Given the description of an element on the screen output the (x, y) to click on. 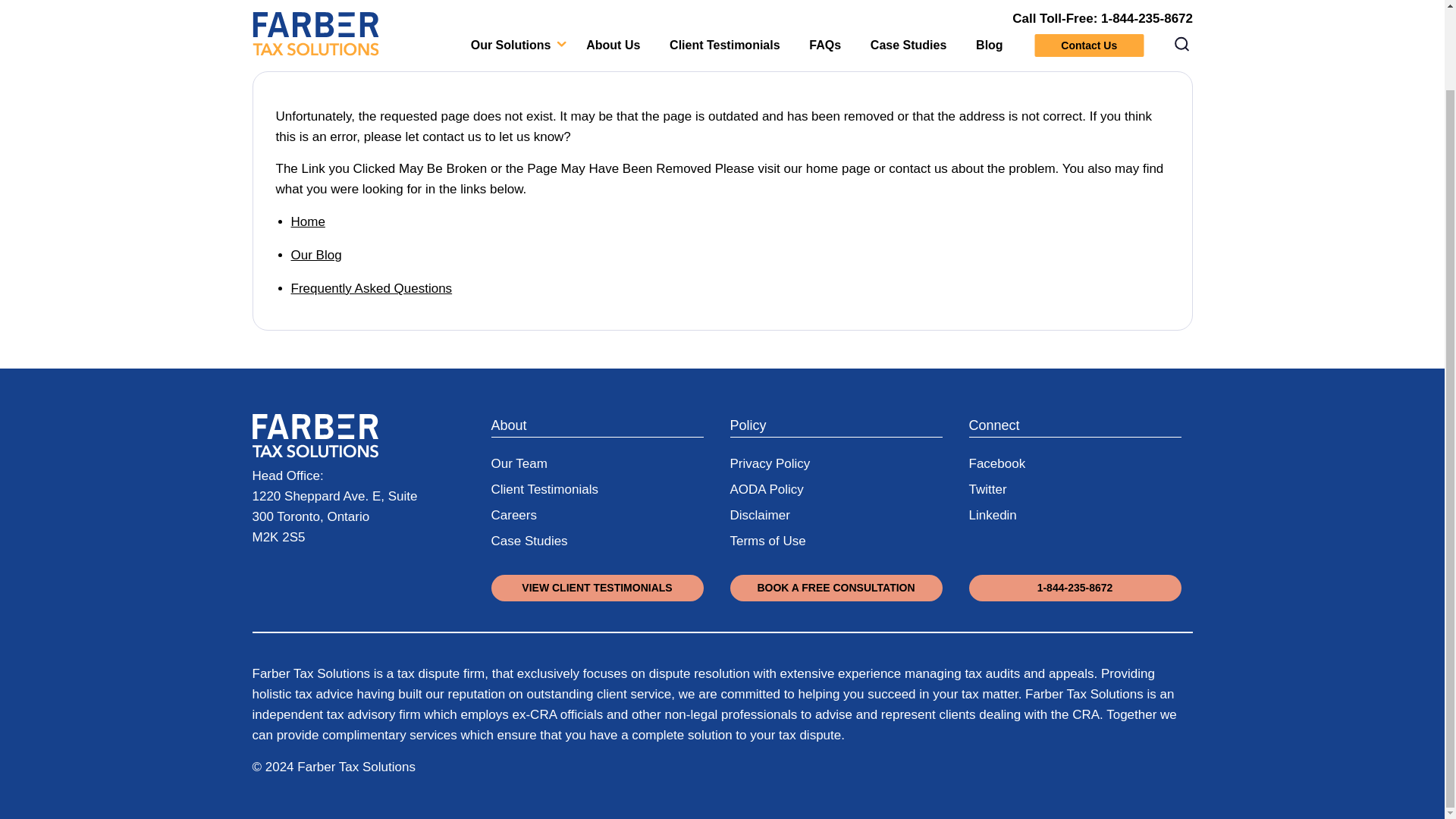
Our Blog (316, 255)
Home (307, 221)
Farber Tax Solutions (314, 437)
FAQs (371, 288)
